Given the description of an element on the screen output the (x, y) to click on. 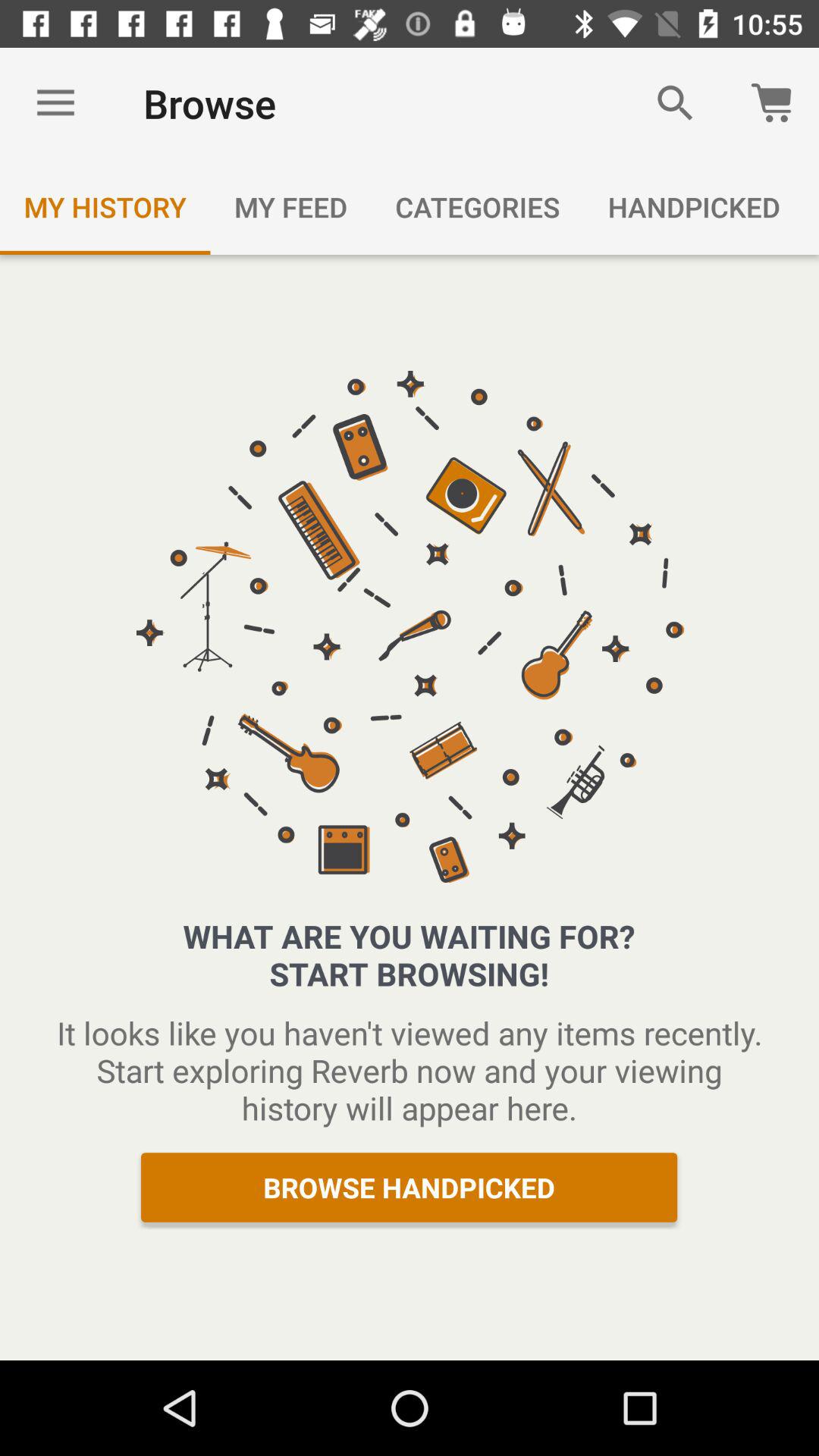
launch the icon to the right of the browse icon (675, 103)
